Given the description of an element on the screen output the (x, y) to click on. 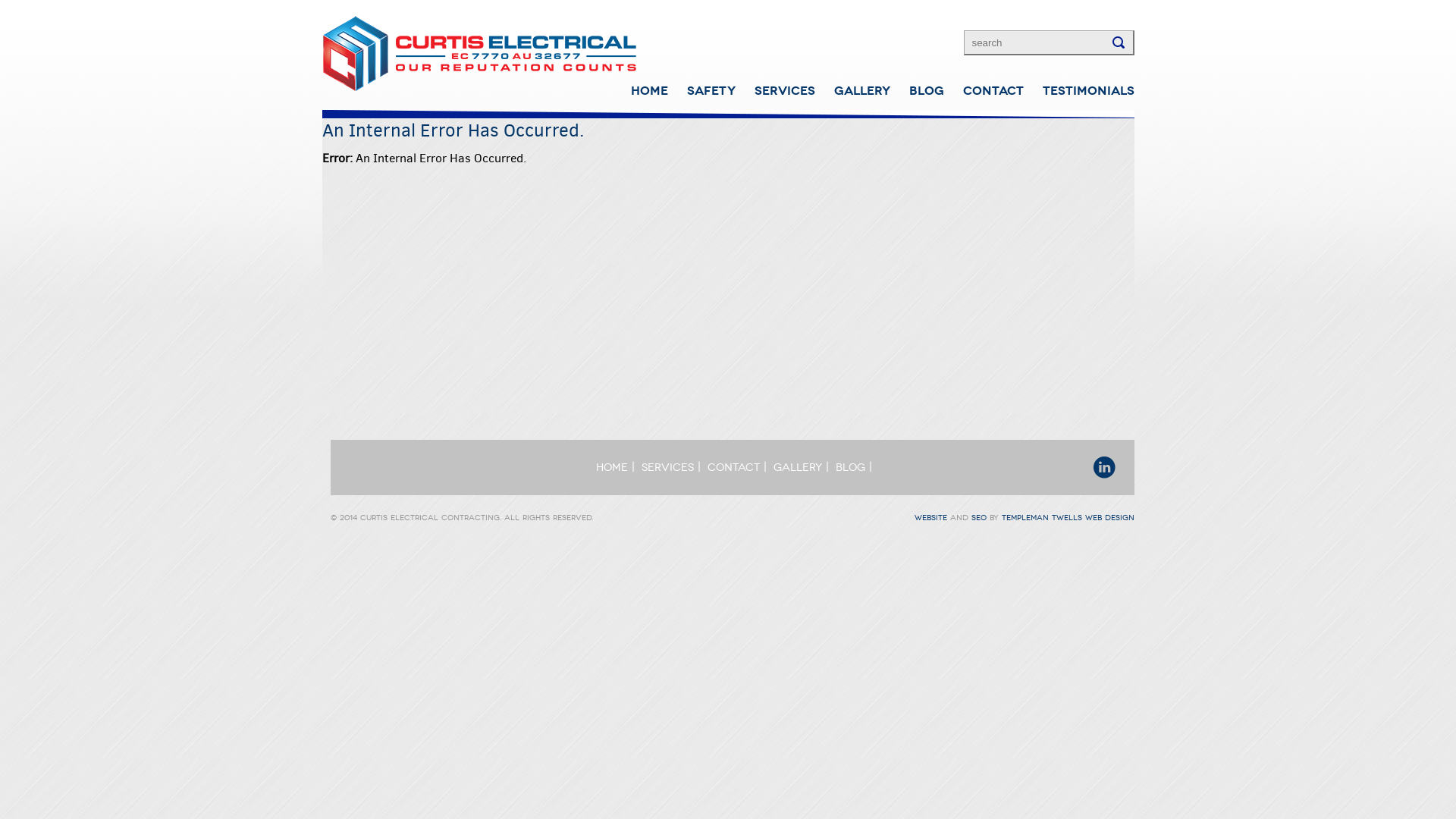
Services Element type: text (667, 467)
SEO Element type: text (977, 517)
Home Element type: text (611, 467)
Contact Element type: text (733, 467)
Website Element type: text (930, 517)
HOME Element type: text (639, 90)
TESTIMONIALS Element type: text (1078, 90)
BLOG Element type: text (917, 90)
GALLERY Element type: text (852, 90)
CONTACT Element type: text (983, 90)
SERVICES Element type: text (775, 90)
Blog Element type: text (850, 467)
Templeman Twells Web Design Element type: text (1067, 517)
SAFETY Element type: text (701, 90)
Gallery Element type: text (797, 467)
